Given the description of an element on the screen output the (x, y) to click on. 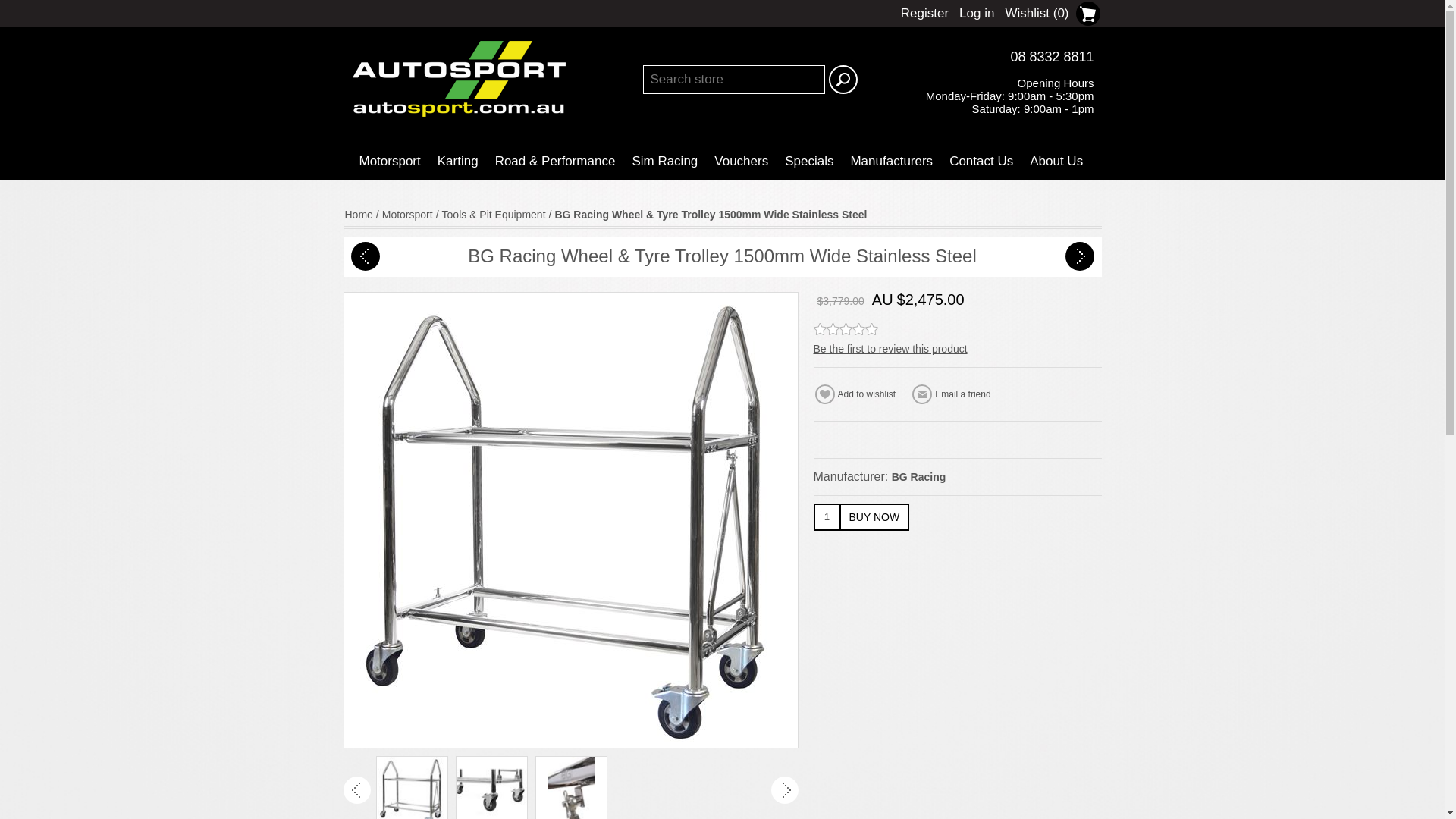
Add to wishlist (857, 394)
Email a friend (954, 394)
Search (842, 79)
Motorsport (389, 161)
Shopping cart (1087, 13)
Motorsport (389, 161)
Buy Now (873, 516)
Register (925, 13)
Search (842, 79)
Search (842, 79)
